Given the description of an element on the screen output the (x, y) to click on. 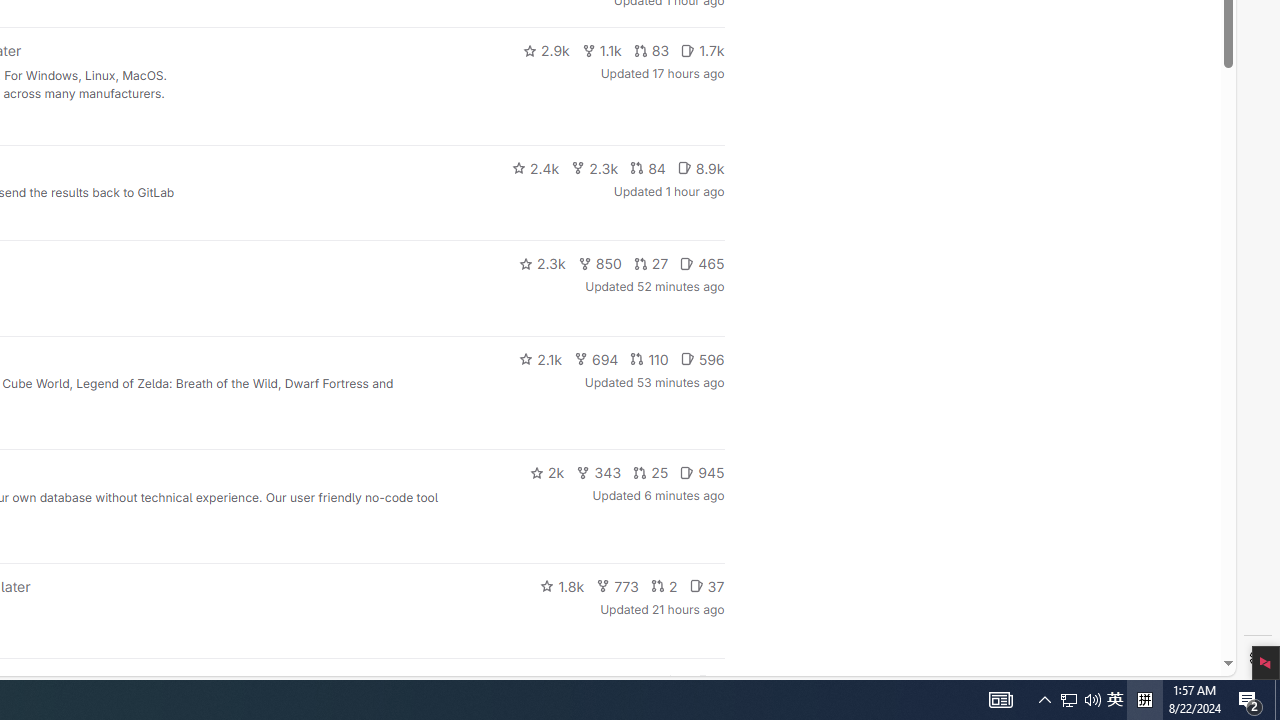
25 (651, 472)
83 (651, 50)
596 (701, 358)
37 (706, 585)
343 (599, 472)
945 (701, 472)
8.9k (700, 167)
110 (649, 358)
2 (664, 585)
850 (599, 263)
84 (647, 167)
773 (618, 585)
6 (710, 681)
1 (673, 681)
